Given the description of an element on the screen output the (x, y) to click on. 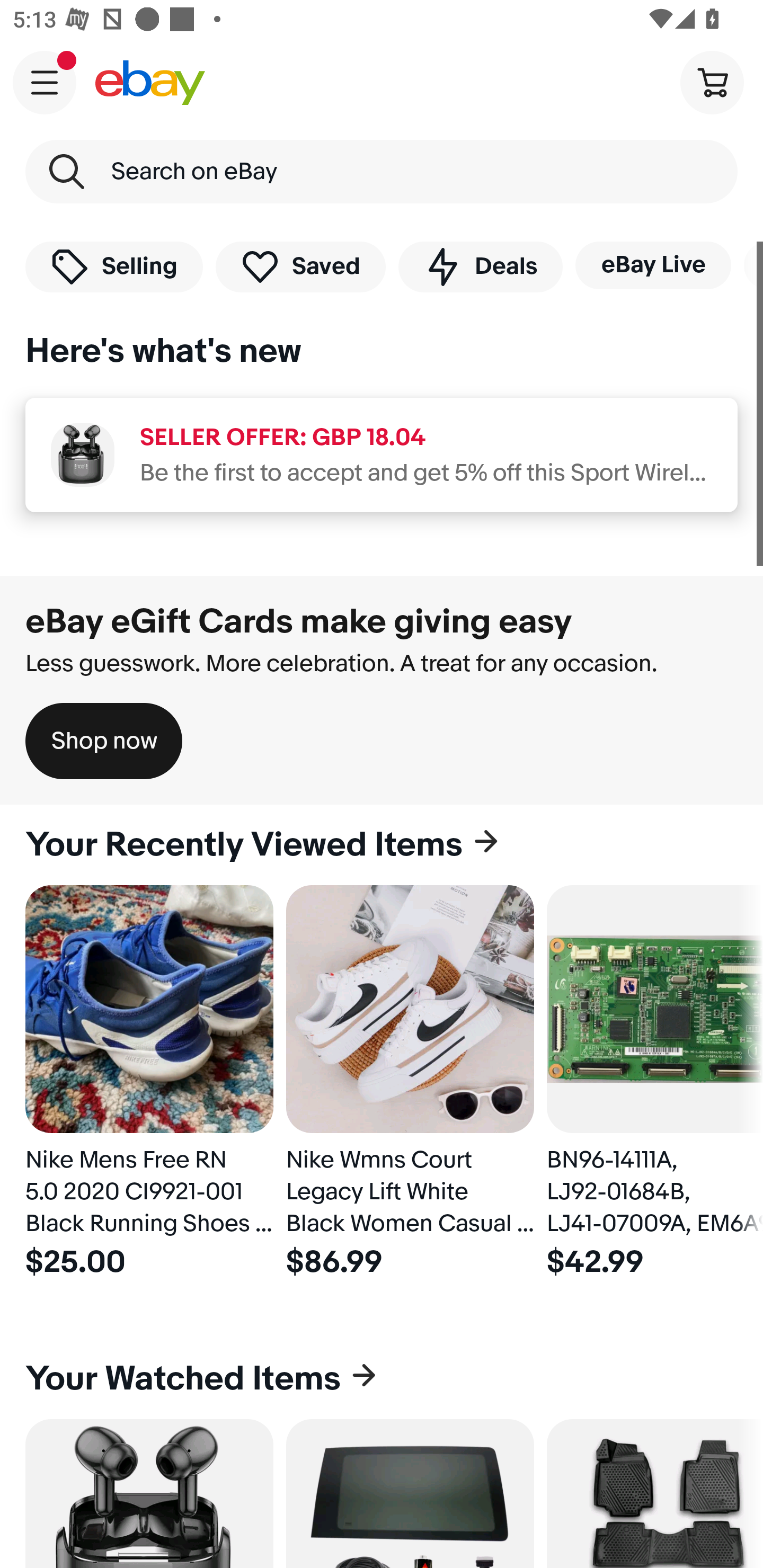
Main navigation, notification is pending, open (44, 82)
Cart button shopping cart (711, 81)
Search on eBay Search Keyword Search on eBay (381, 171)
Selling (113, 266)
Saved (300, 266)
Deals (480, 266)
eBay Live (652, 264)
eBay eGift Cards make giving easy (298, 621)
Shop now (103, 740)
Your Recently Viewed Items   (381, 844)
Your Watched Items   (381, 1379)
